Given the description of an element on the screen output the (x, y) to click on. 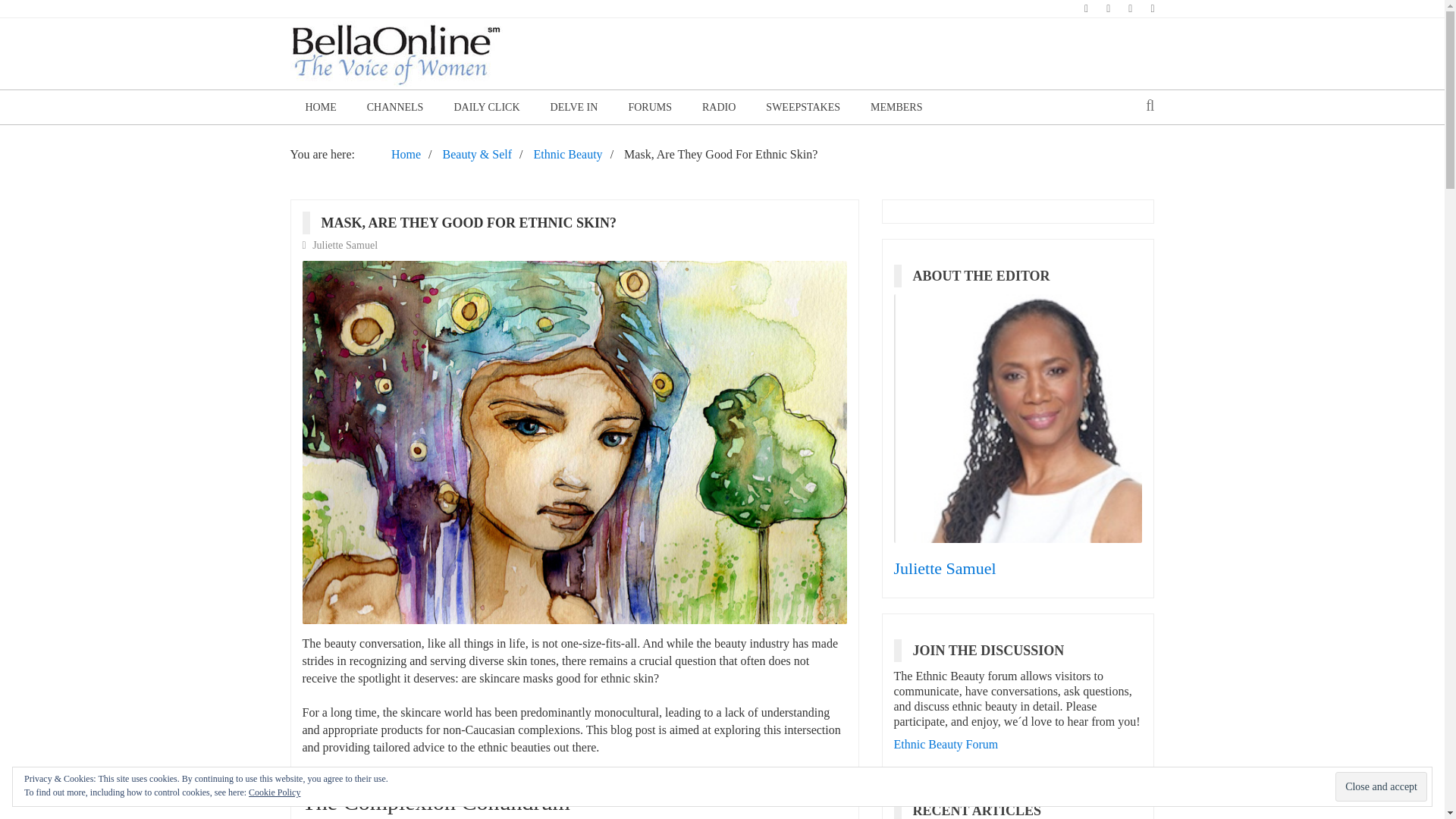
HOME (319, 107)
Close and accept (1380, 786)
DAILY CLICK (486, 107)
RADIO (719, 107)
SWEEPSTAKES (803, 107)
FORUMS (649, 107)
CHANNELS (395, 107)
DELVE IN (573, 107)
